Given the description of an element on the screen output the (x, y) to click on. 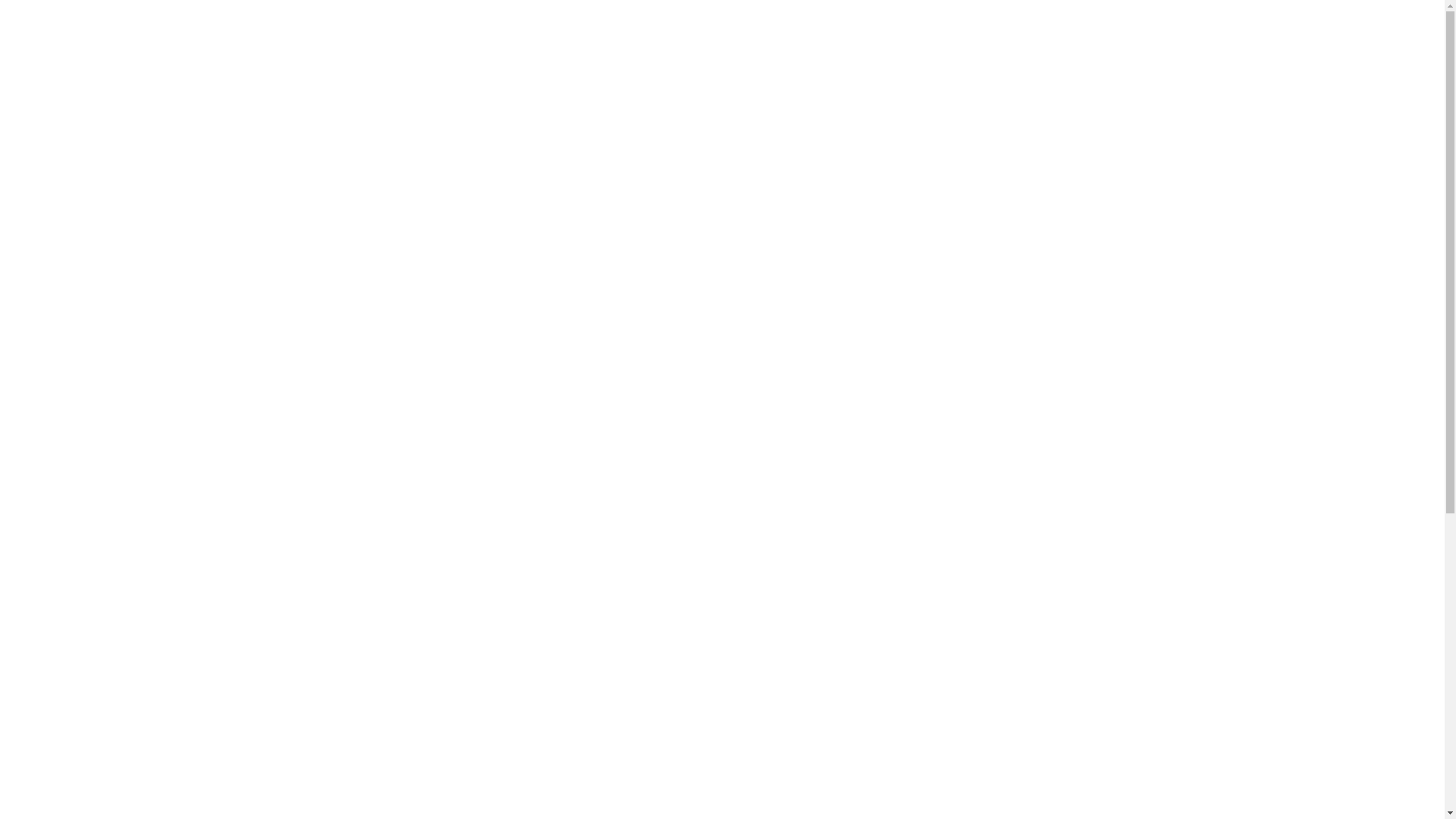
Search Element type: text (53, 20)
En route vers les grottes de Goyet ! Element type: text (1032, 361)
Skip to content Element type: text (0, 0)
Faulx Les Tombes Element type: text (982, 523)
Blog Element type: text (1114, 41)
Tarifs Element type: text (951, 41)
http://www.gesves.be/tourisme Element type: text (618, 379)
Namur Element type: text (951, 548)
Coquelicot Element type: text (1020, 744)
Comment bien vivre la fin du confinement ? Element type: text (1003, 327)
Coquelicot Element type: text (963, 292)
Au Sansonnet Element type: text (391, 25)
